Given the description of an element on the screen output the (x, y) to click on. 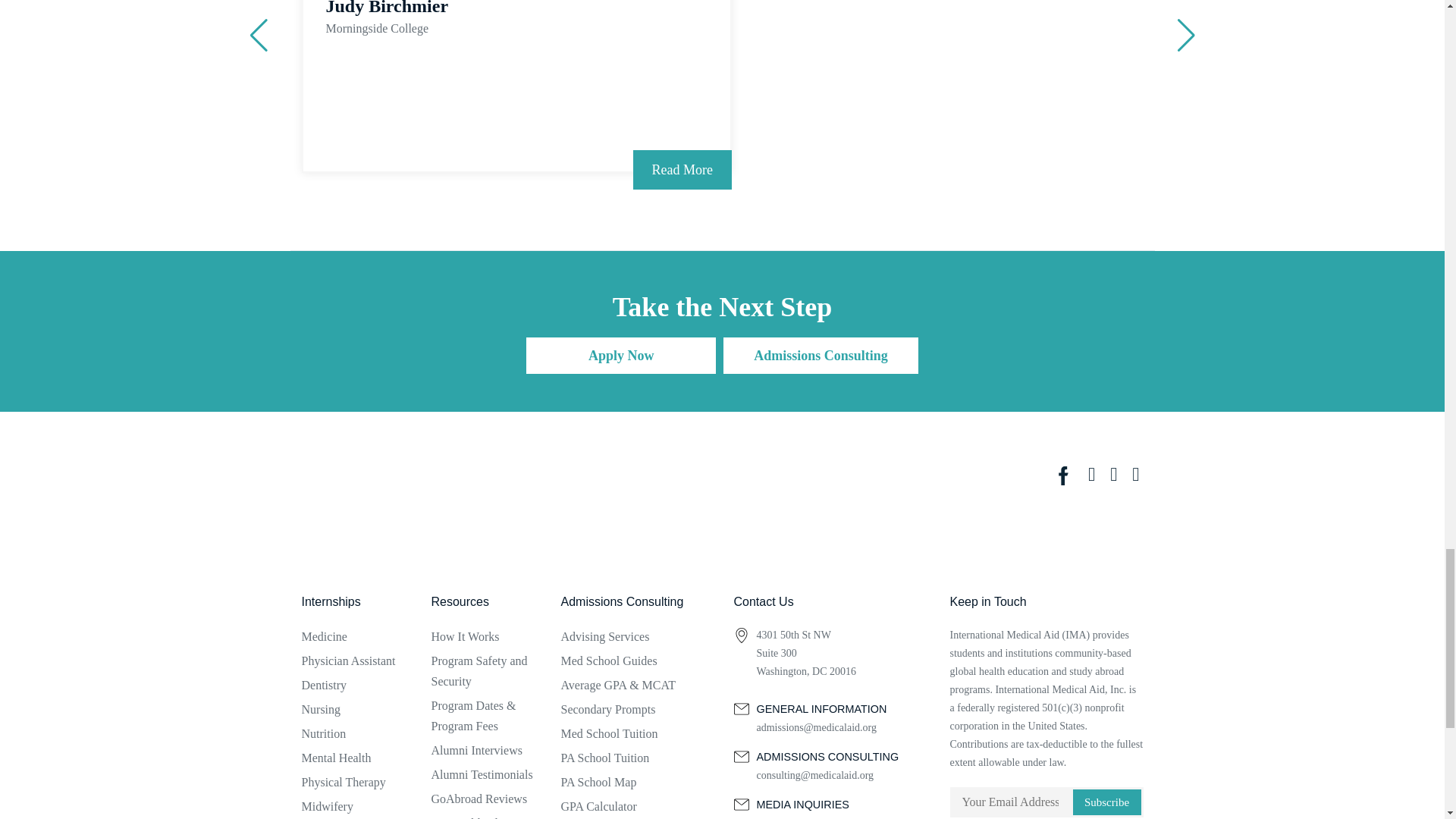
Subscribe (1105, 801)
